Given the description of an element on the screen output the (x, y) to click on. 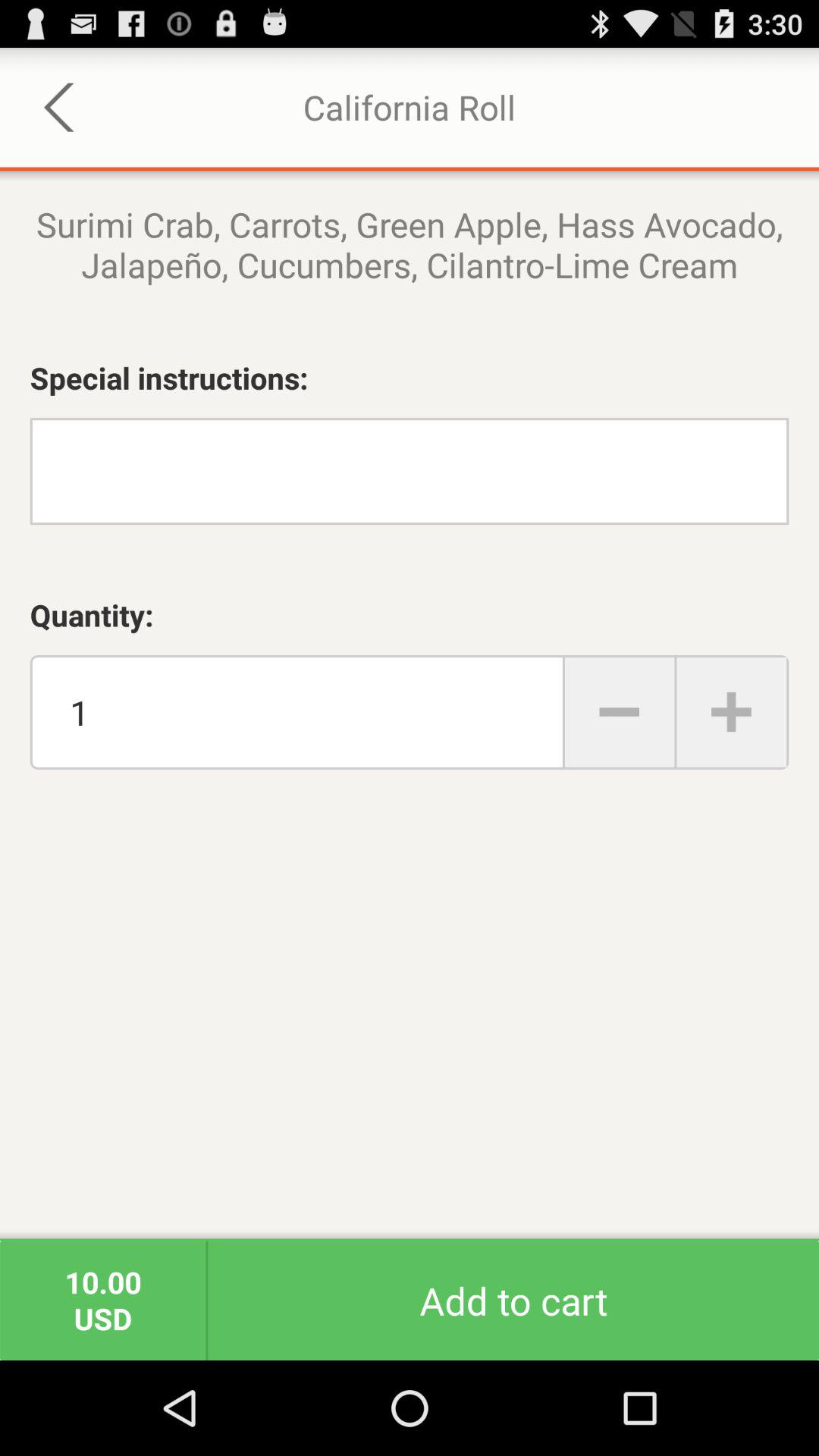
enter special instructions text (409, 471)
